Given the description of an element on the screen output the (x, y) to click on. 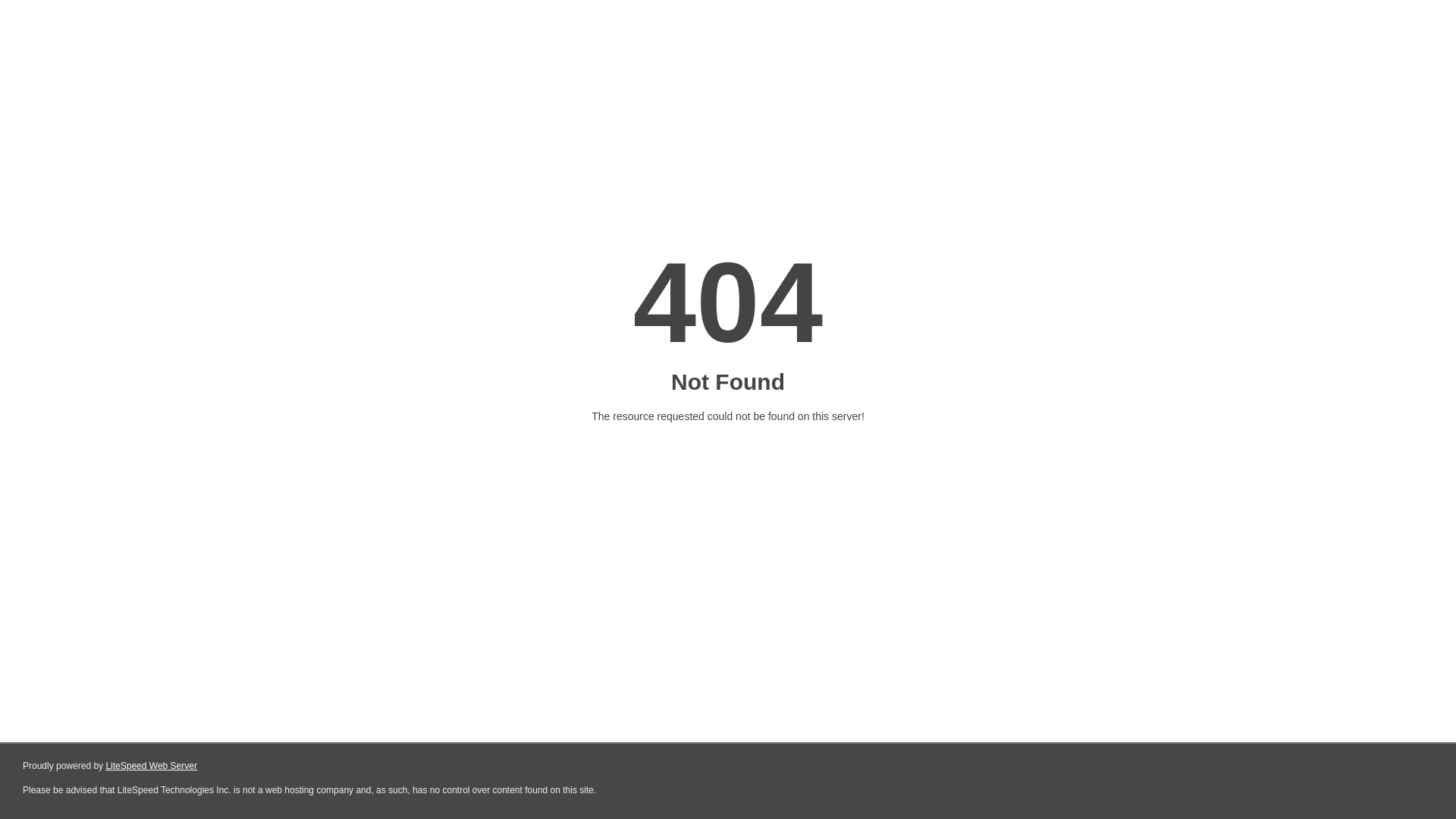
LiteSpeed Web Server Element type: text (151, 765)
